Given the description of an element on the screen output the (x, y) to click on. 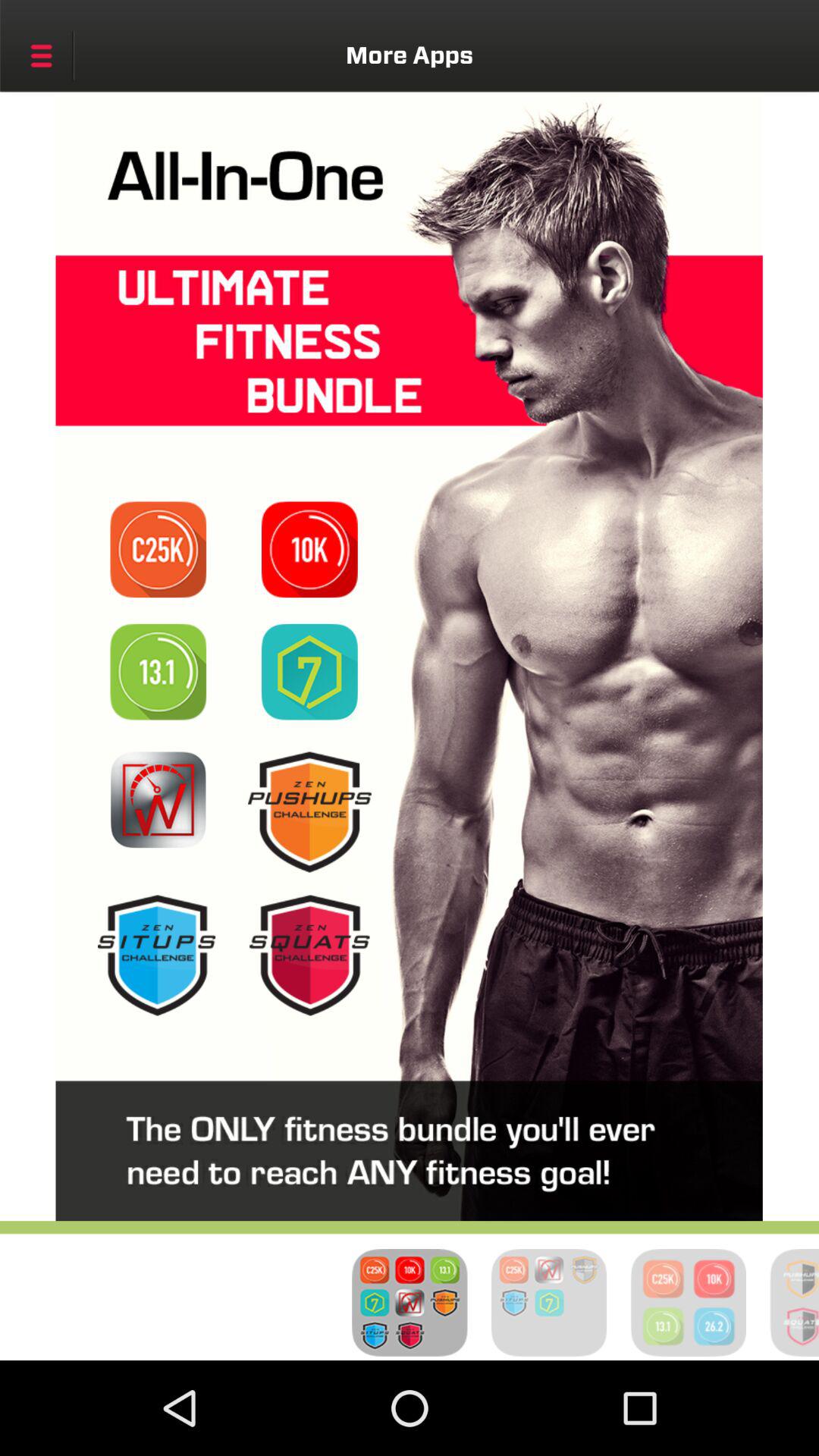
turn on item below the more apps (309, 549)
